Given the description of an element on the screen output the (x, y) to click on. 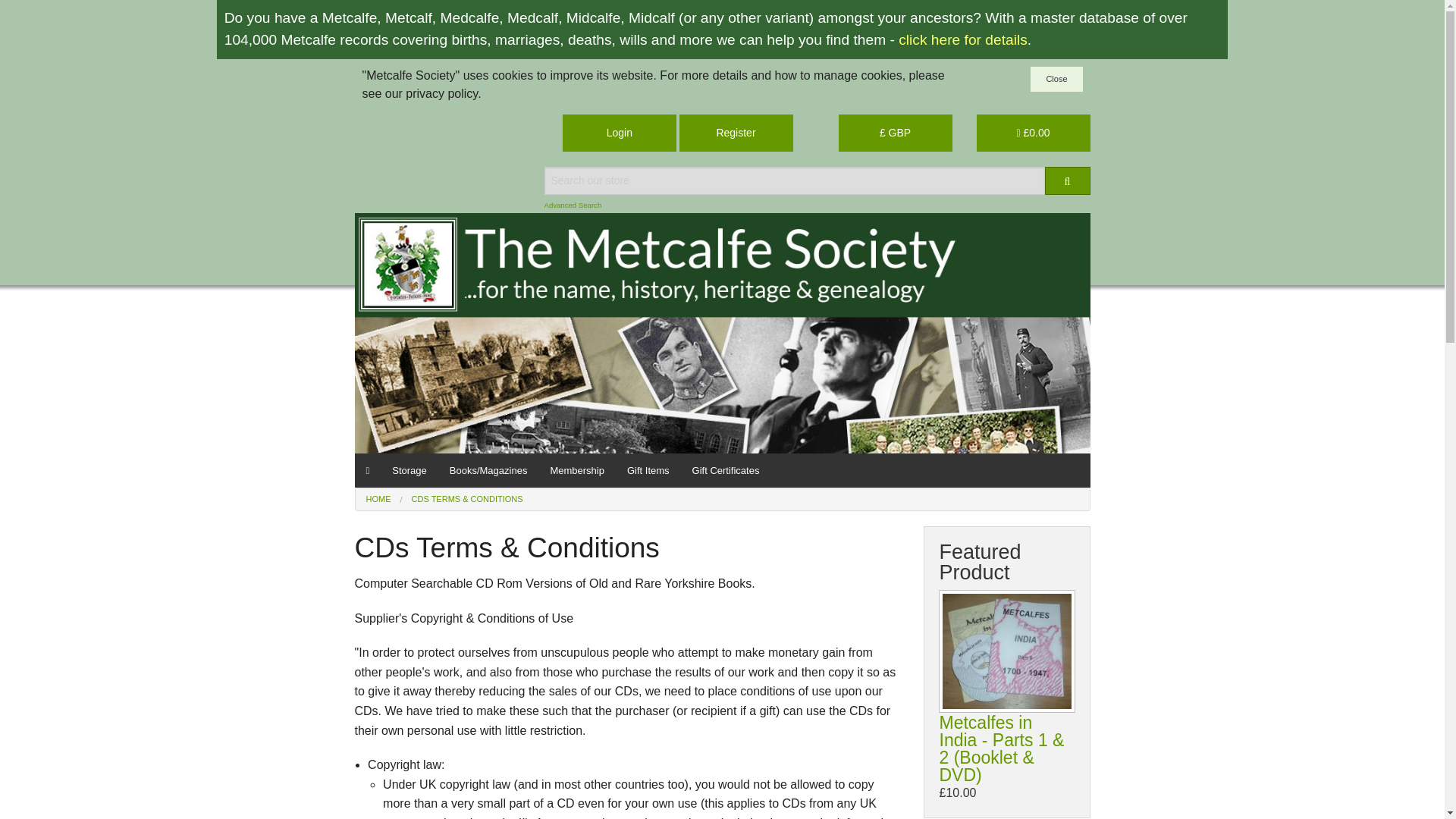
Search (1067, 180)
Gift Items (648, 470)
click here for details (962, 39)
Close (1055, 78)
Storage (409, 470)
Membership (576, 470)
Close (1055, 78)
Gift Certificates (726, 470)
Gift Items (648, 470)
Home (368, 470)
Membership (576, 470)
Gift Certificates (726, 470)
HOME (377, 498)
Login (619, 132)
Register (736, 132)
